Given the description of an element on the screen output the (x, y) to click on. 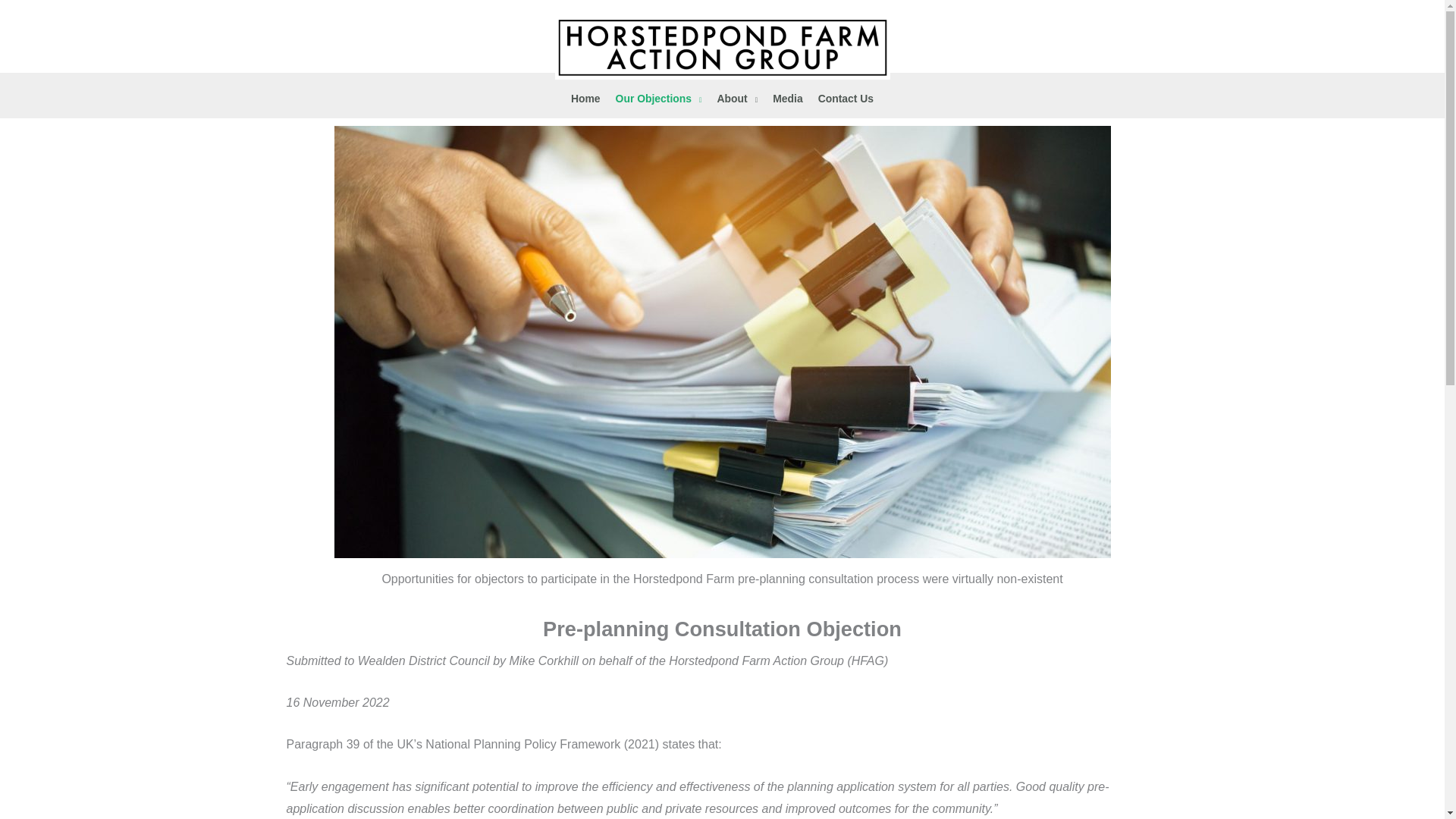
Home (585, 99)
Media (787, 99)
Contact Us (845, 99)
Our Objections (659, 99)
About (737, 99)
